Given the description of an element on the screen output the (x, y) to click on. 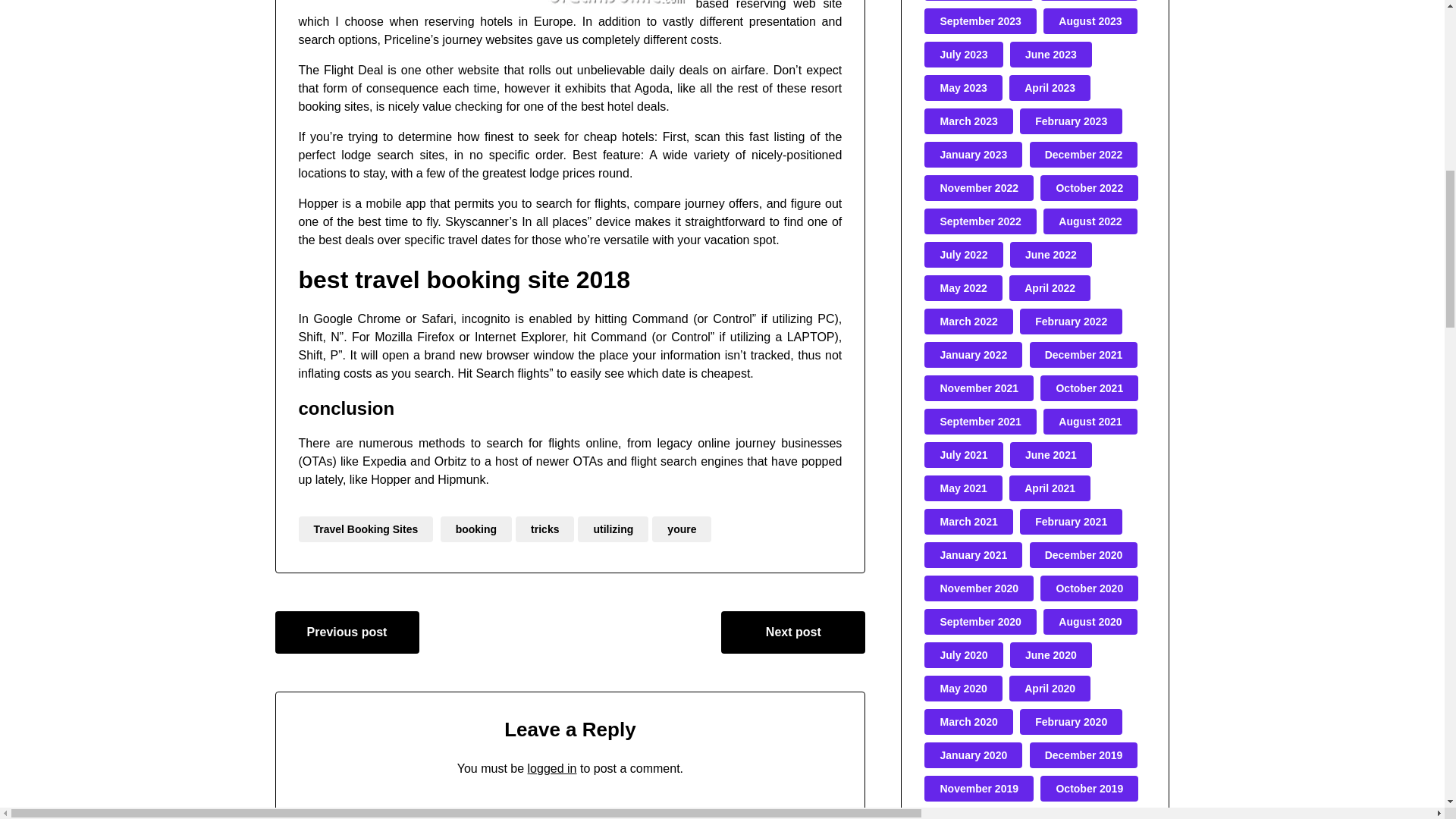
booking (476, 529)
Travel Booking Sites (365, 529)
